Given the description of an element on the screen output the (x, y) to click on. 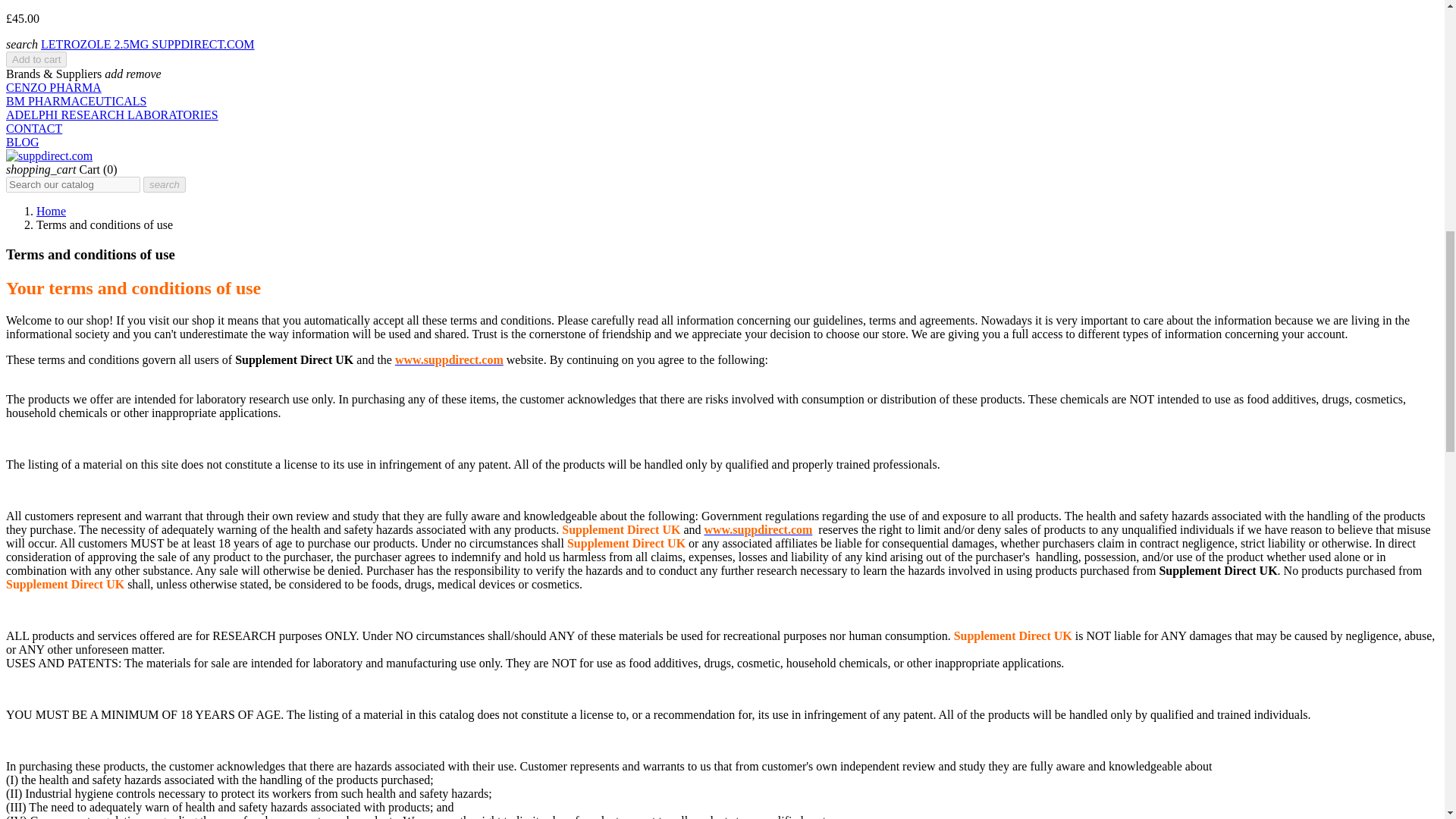
Add to cart (35, 59)
BM PHARMACEUTICALS (76, 101)
Home (50, 210)
CONTACT (33, 128)
ADELPHI RESEARCH LABORATORIES (111, 114)
CENZO PHARMA (53, 87)
BLOG (22, 141)
www.suppdirect.com (757, 529)
www.suppdirect.com (448, 359)
LETROZOLE 2.5MG SUPPDIRECT.COM (147, 43)
search (164, 184)
